Given the description of an element on the screen output the (x, y) to click on. 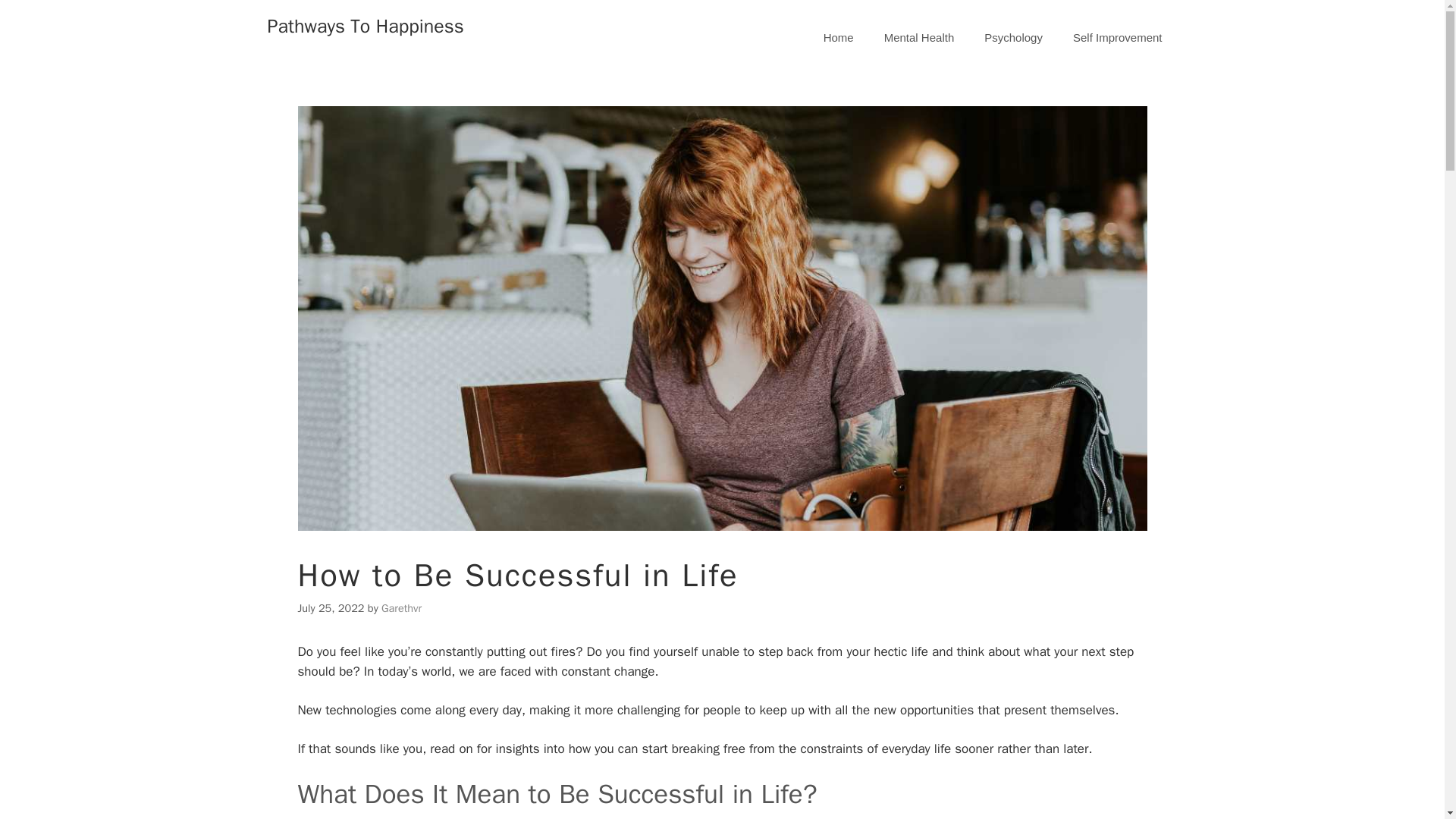
Garethvr (401, 608)
Home (838, 37)
View all posts by Garethvr (401, 608)
Mental Health (919, 37)
Pathways To Happiness (364, 25)
Psychology (1013, 37)
Self Improvement (1117, 37)
